Given the description of an element on the screen output the (x, y) to click on. 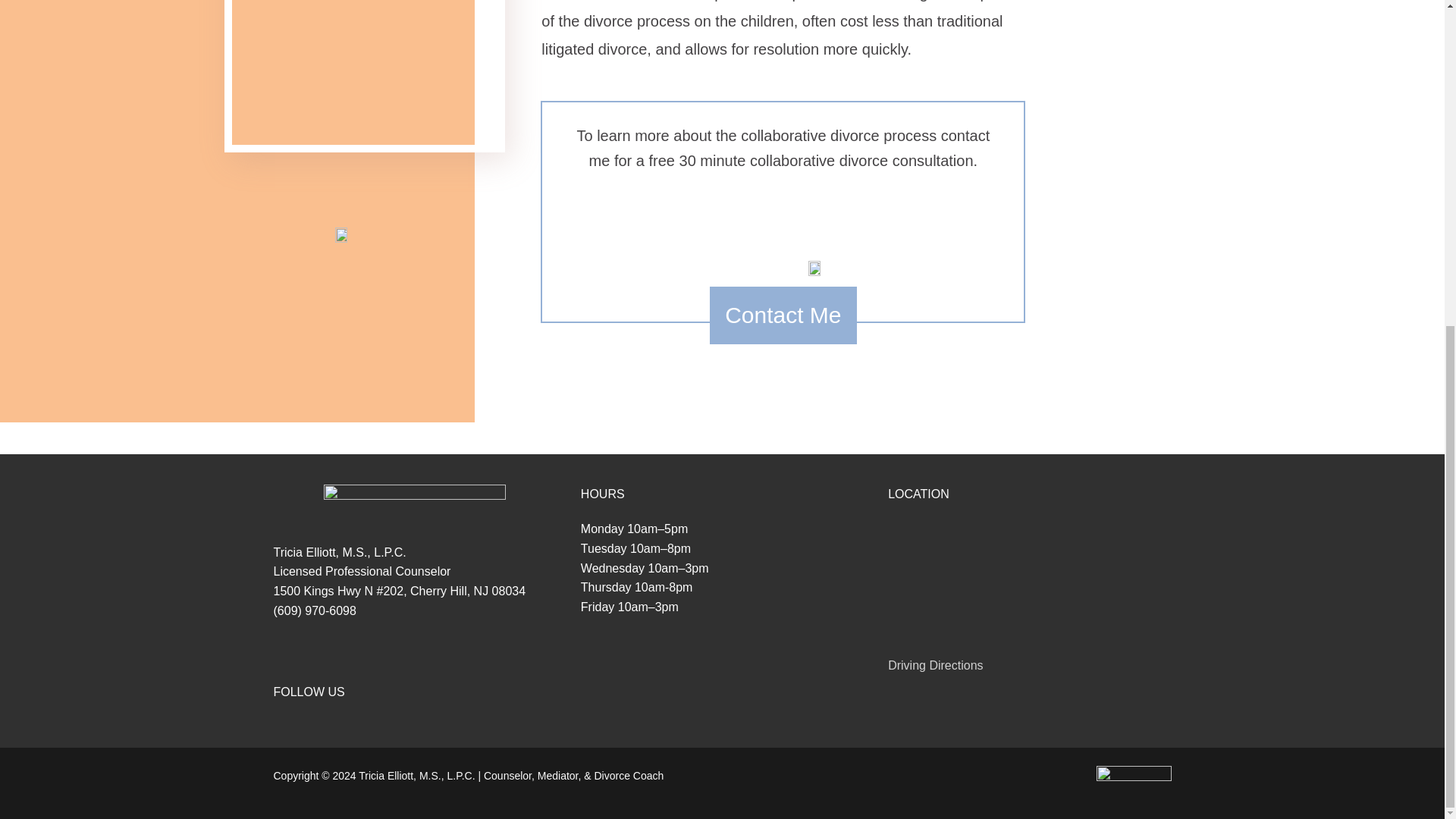
Family of three enjoying the park (364, 72)
Contact Me (783, 314)
Driving Directions (935, 665)
